Given the description of an element on the screen output the (x, y) to click on. 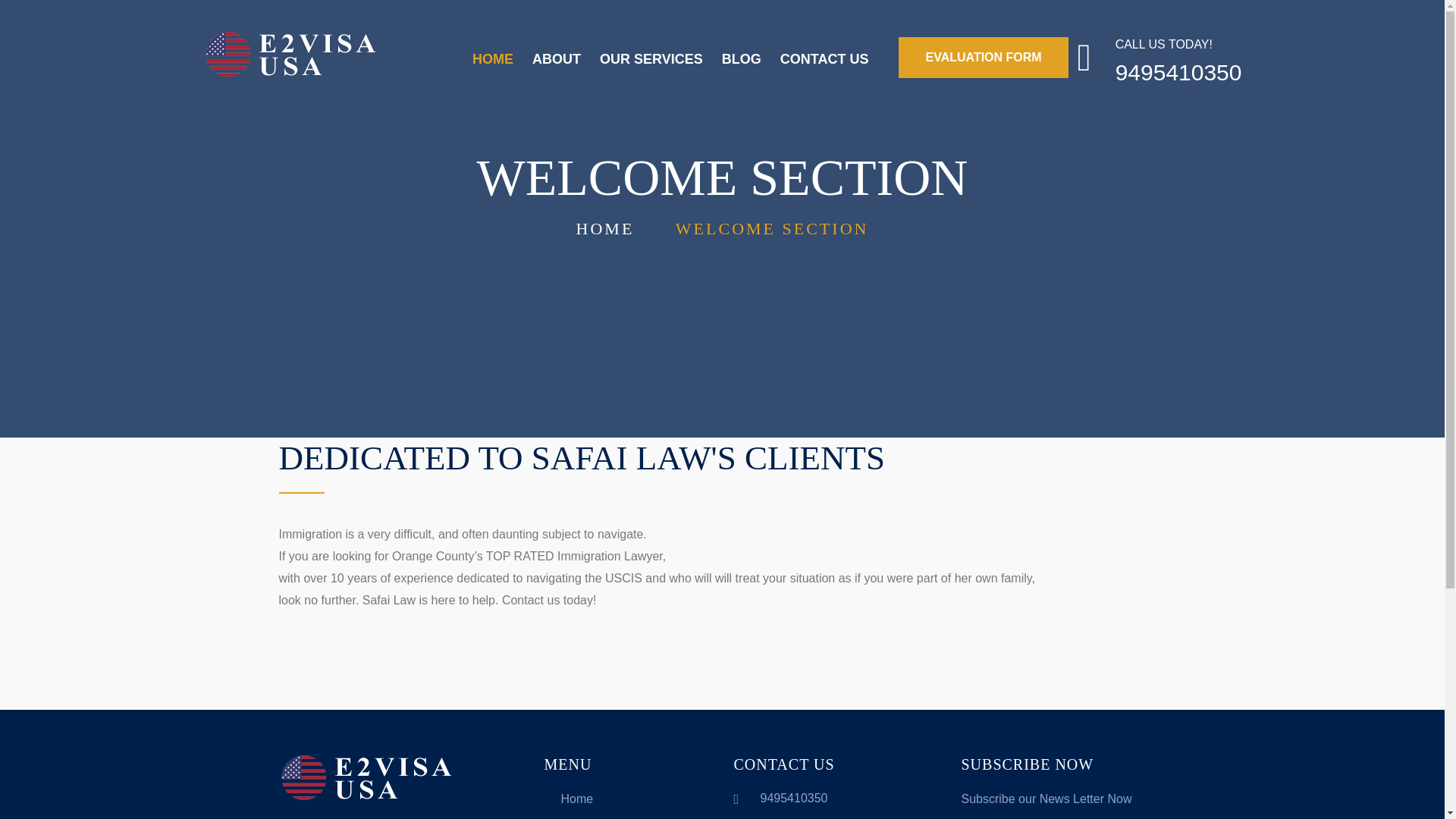
EVALUATION FORM (982, 56)
logo (290, 53)
9495410350 (793, 797)
HOME (605, 228)
CONTACT US (824, 58)
OUR SERVICES (651, 58)
Home (567, 798)
Logo (365, 777)
